Given the description of an element on the screen output the (x, y) to click on. 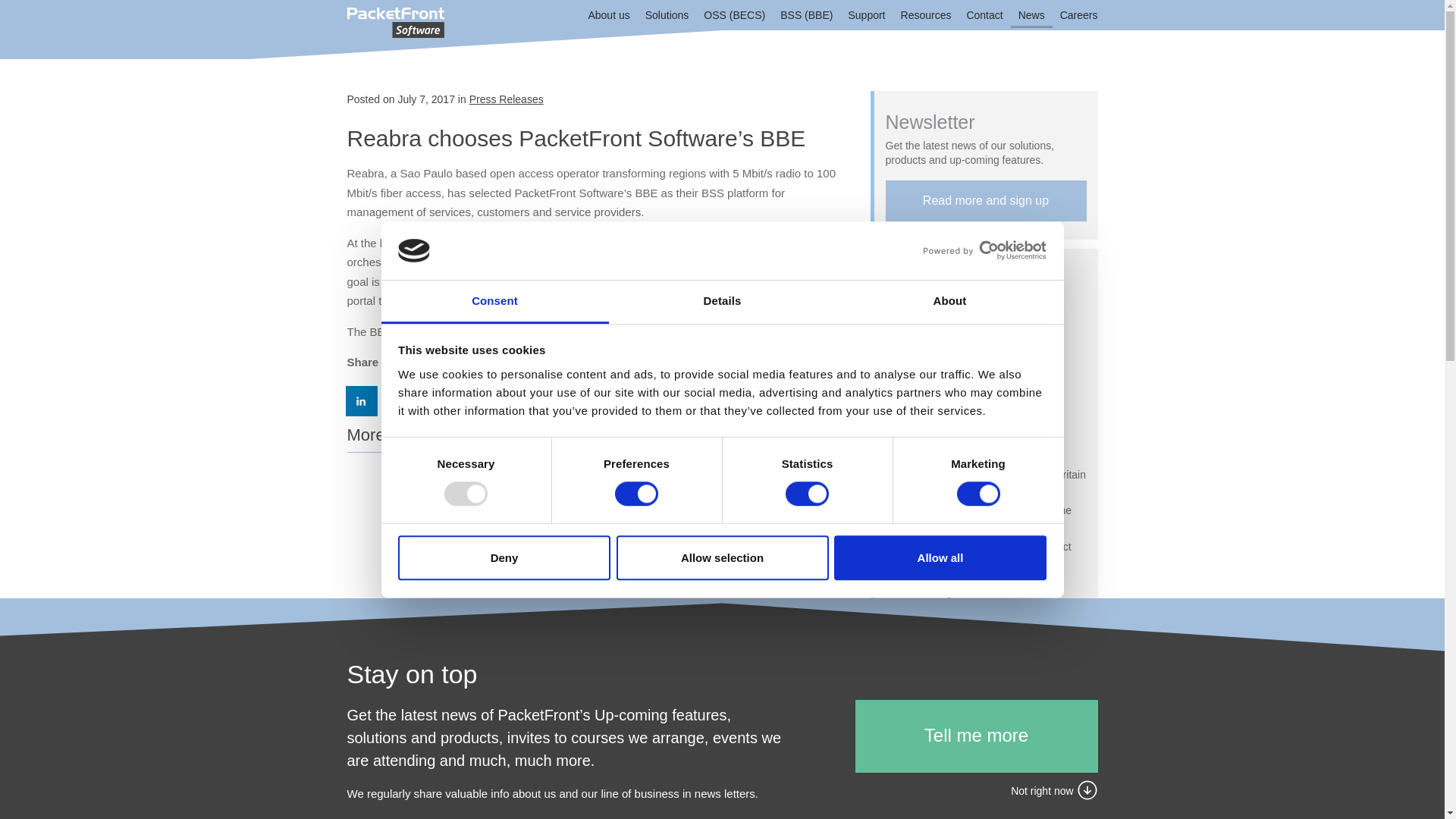
Share on LinkedIn (362, 400)
Consent (494, 301)
Details (721, 301)
Share on Twitter (443, 400)
packetfront-office-poland (726, 529)
About (948, 301)
Share on Facebook (402, 400)
